Given the description of an element on the screen output the (x, y) to click on. 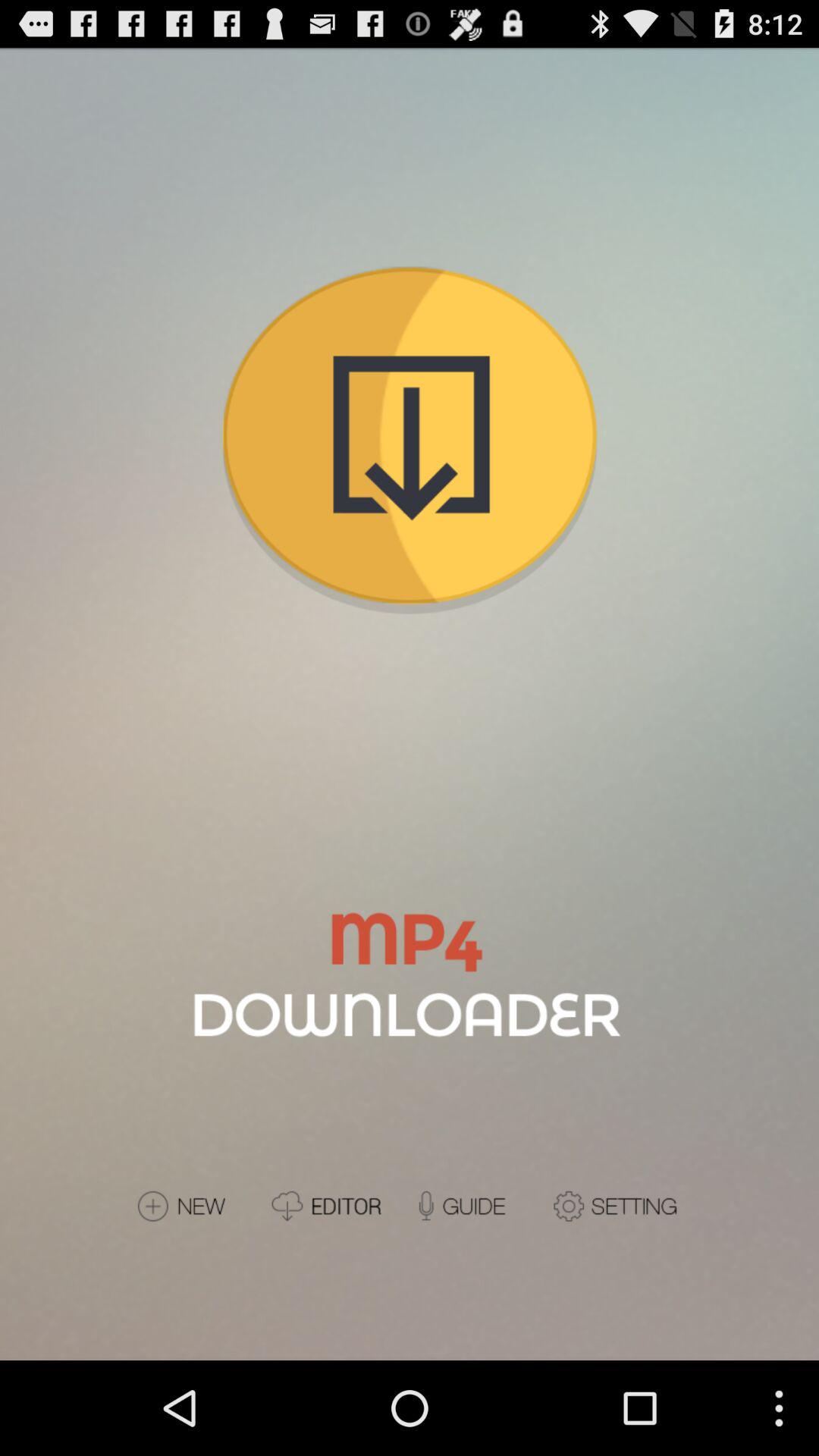
new update (197, 1206)
